Given the description of an element on the screen output the (x, y) to click on. 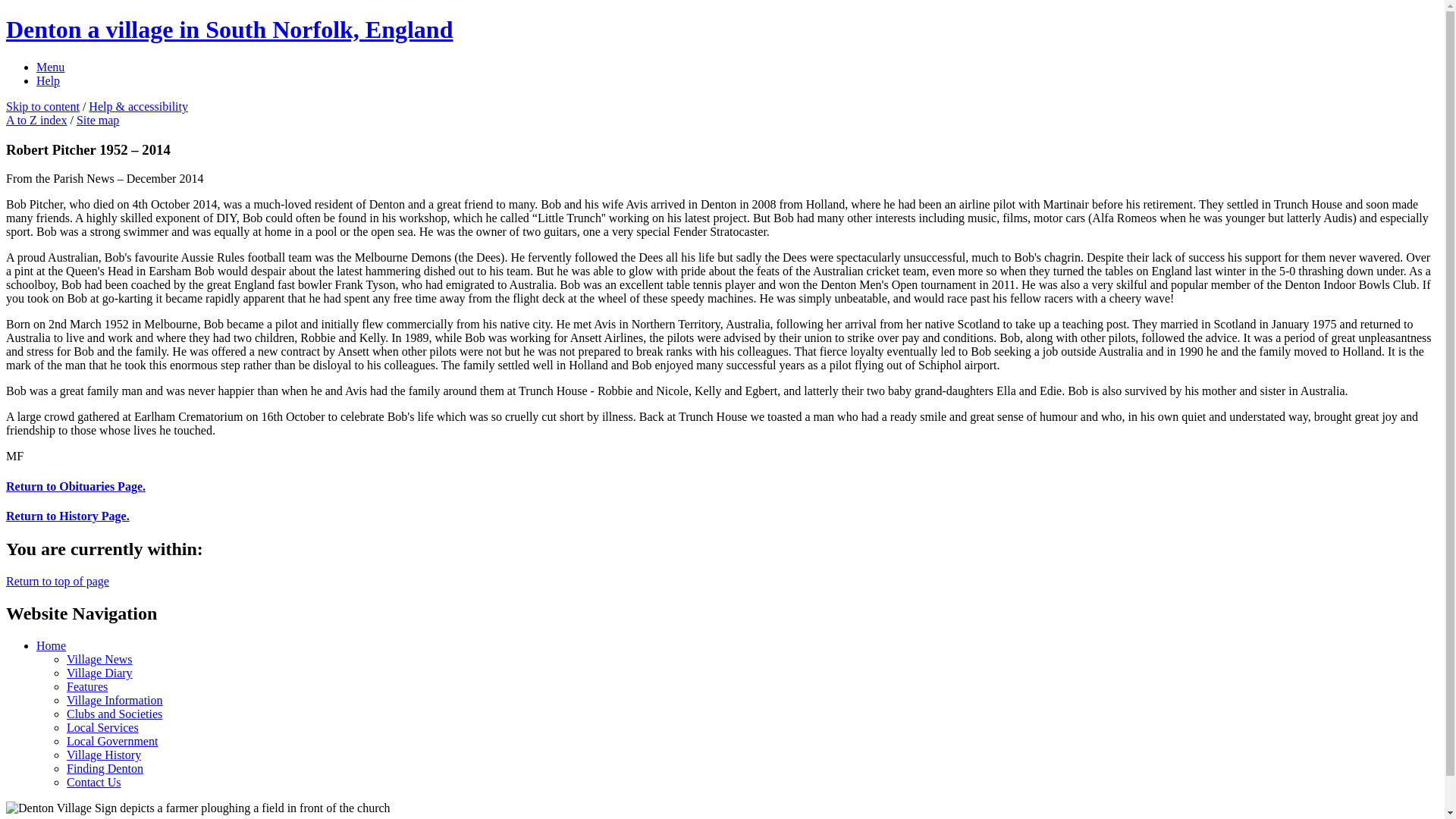
Finding Denton (104, 768)
A to Z index (35, 119)
Contact Us (93, 781)
Village News (99, 658)
Village Diary (99, 672)
Return to top of page (57, 581)
Local Government (111, 740)
Denton a village in South Norfolk, England (228, 29)
Return to Obituaries Page. (75, 486)
Village Information (114, 699)
